Given the description of an element on the screen output the (x, y) to click on. 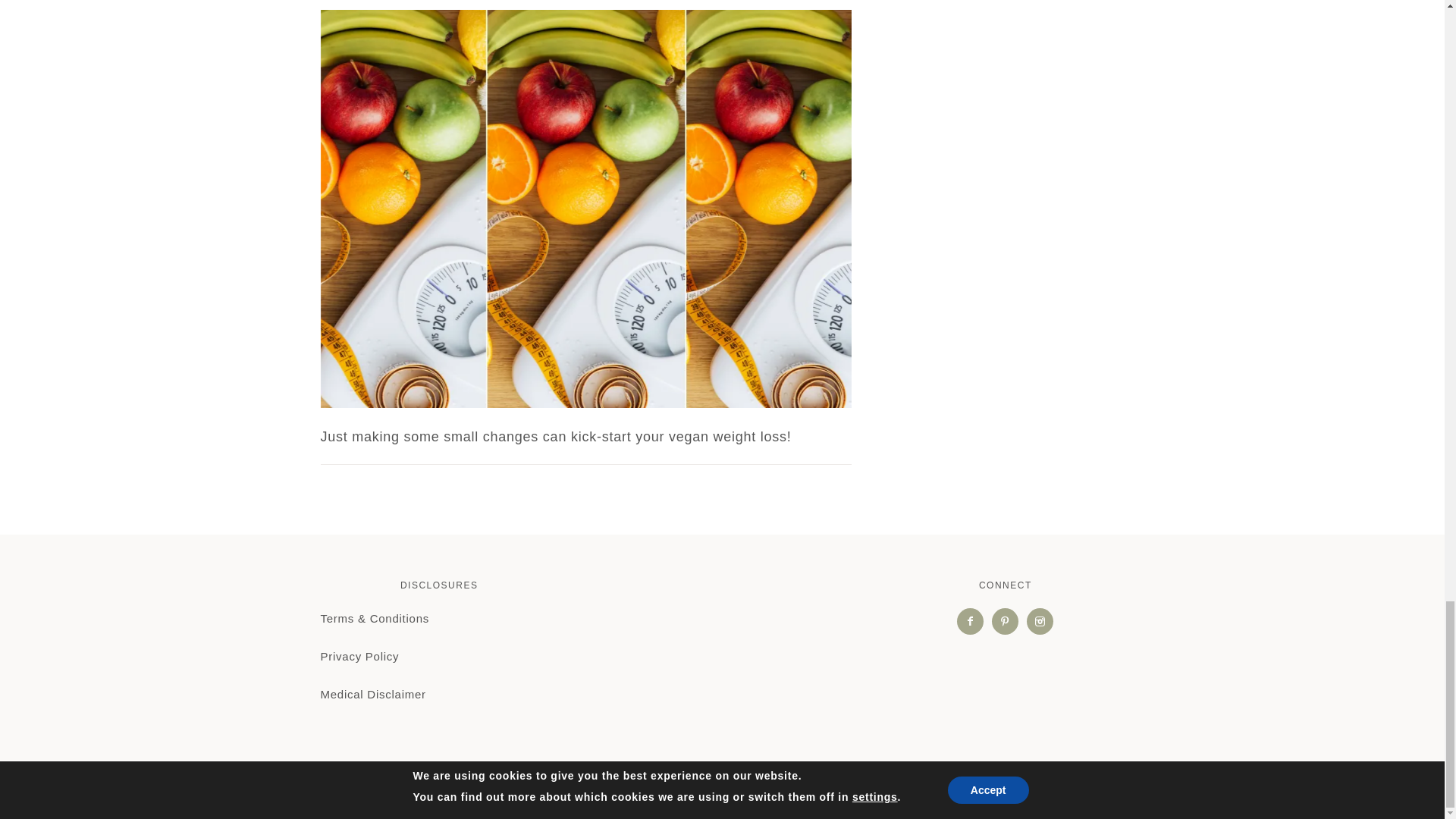
Instagram (1040, 620)
Facebook (970, 620)
Medical Disclaimer (372, 694)
Pinterest (1005, 620)
Privacy Policy (359, 656)
17TH AVENUE (868, 791)
